Given the description of an element on the screen output the (x, y) to click on. 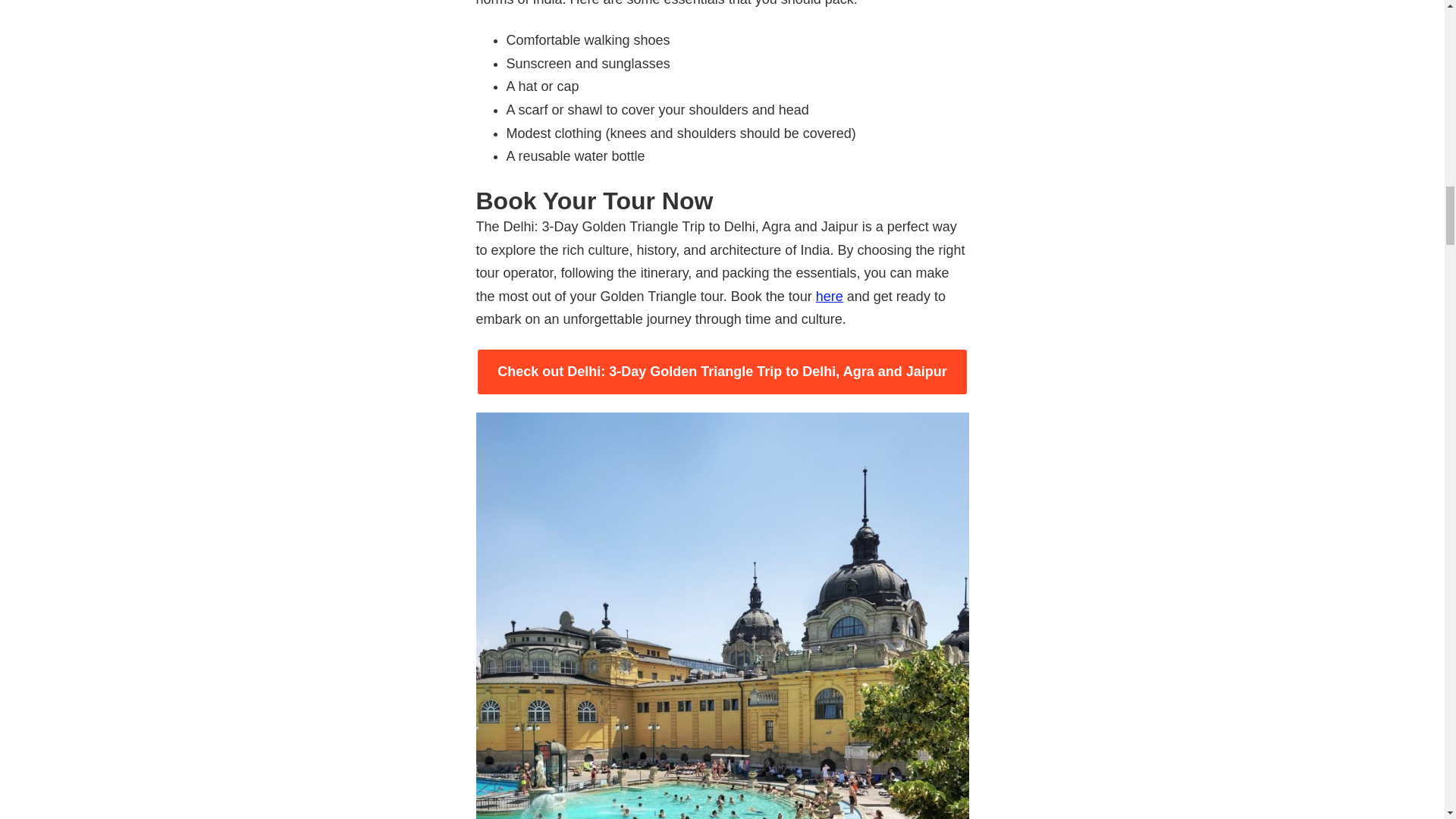
here (829, 296)
